Given the description of an element on the screen output the (x, y) to click on. 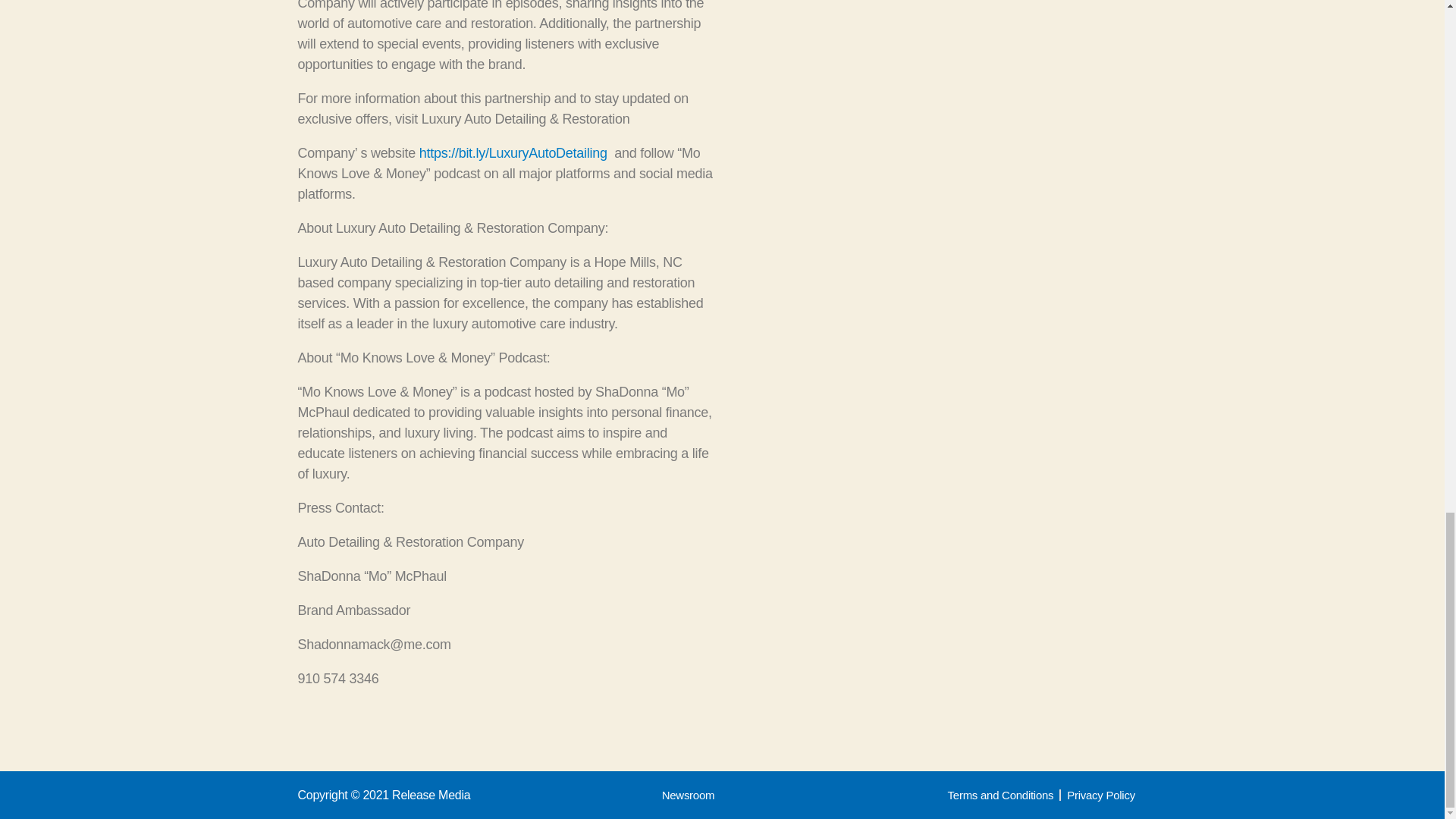
Privacy Policy (1101, 794)
Newsroom (688, 794)
Terms and Conditions (1000, 794)
